Given the description of an element on the screen output the (x, y) to click on. 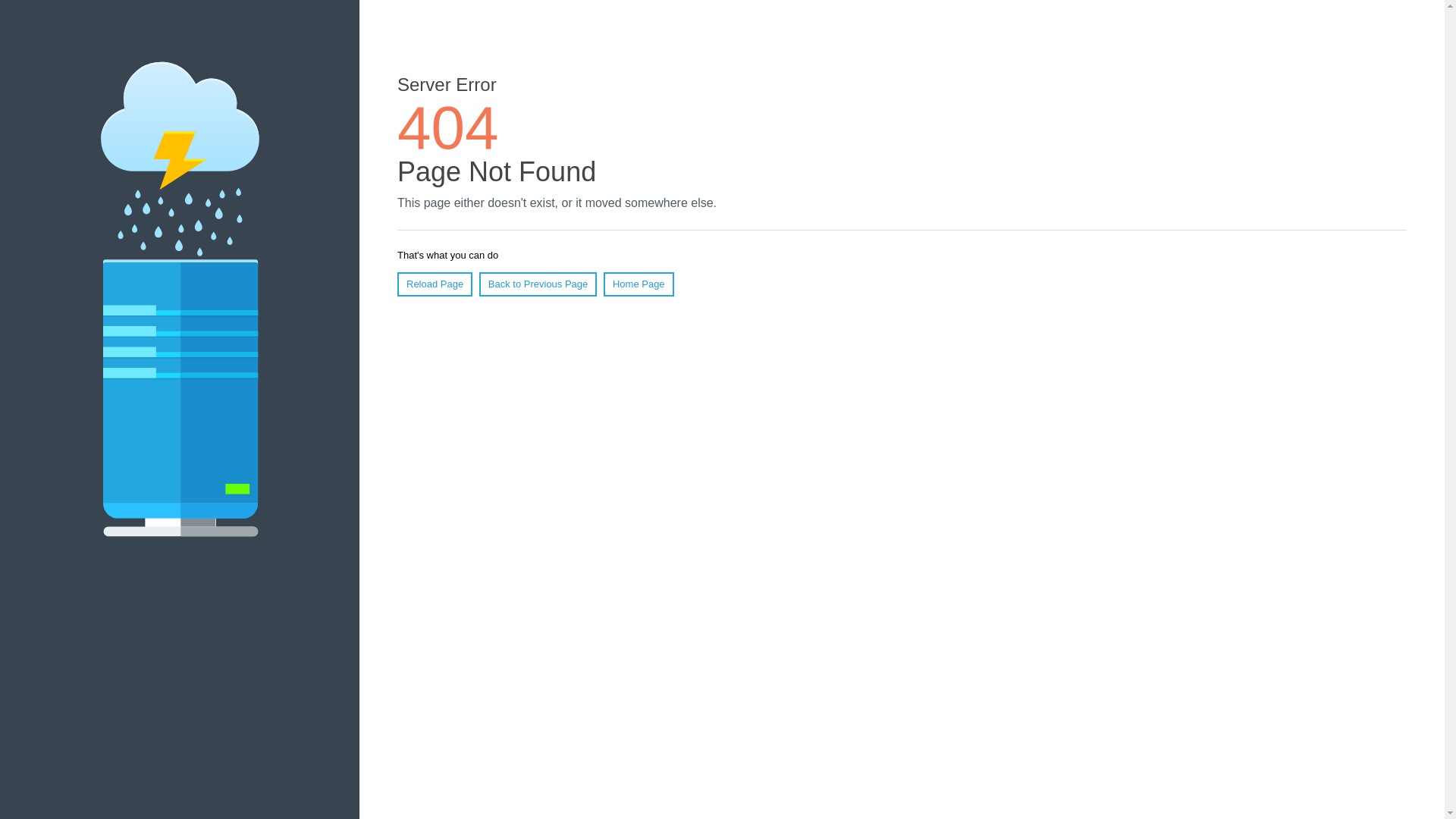
Reload Page (434, 283)
Home Page (639, 283)
Back to Previous Page (537, 283)
